Given the description of an element on the screen output the (x, y) to click on. 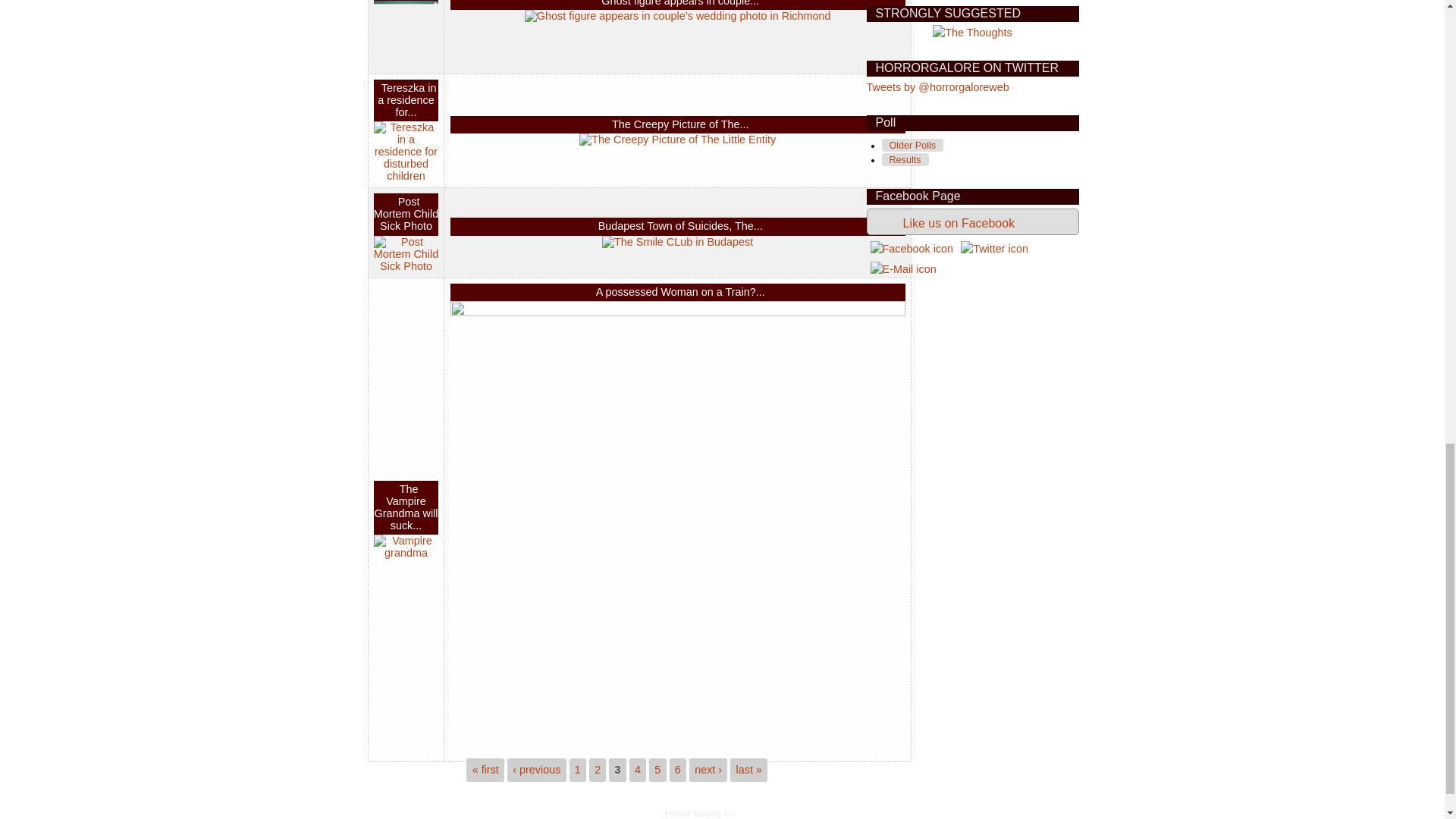
Tereszka in a residence for... (406, 99)
Budapest Town of Suicides, The... (680, 225)
The Creepy Picture of The... (680, 123)
Tereszka, a child in a residence for disturbed children (406, 151)
2 (596, 769)
The Smile CLub in Budapest (677, 241)
Ghost figure appears in couple... (679, 3)
Post Mortem Child Sick Photo (406, 253)
1 (577, 769)
vampire grandma  (406, 546)
The Creepy Picture of The Little Entity (677, 139)
Post Mortem Child Sick Photo (406, 213)
A possessed Woman on a Train?... (680, 291)
The Vampire Grandma will suck... (406, 507)
Xiao Wei lost his right hand in an accident (406, 33)
